Given the description of an element on the screen output the (x, y) to click on. 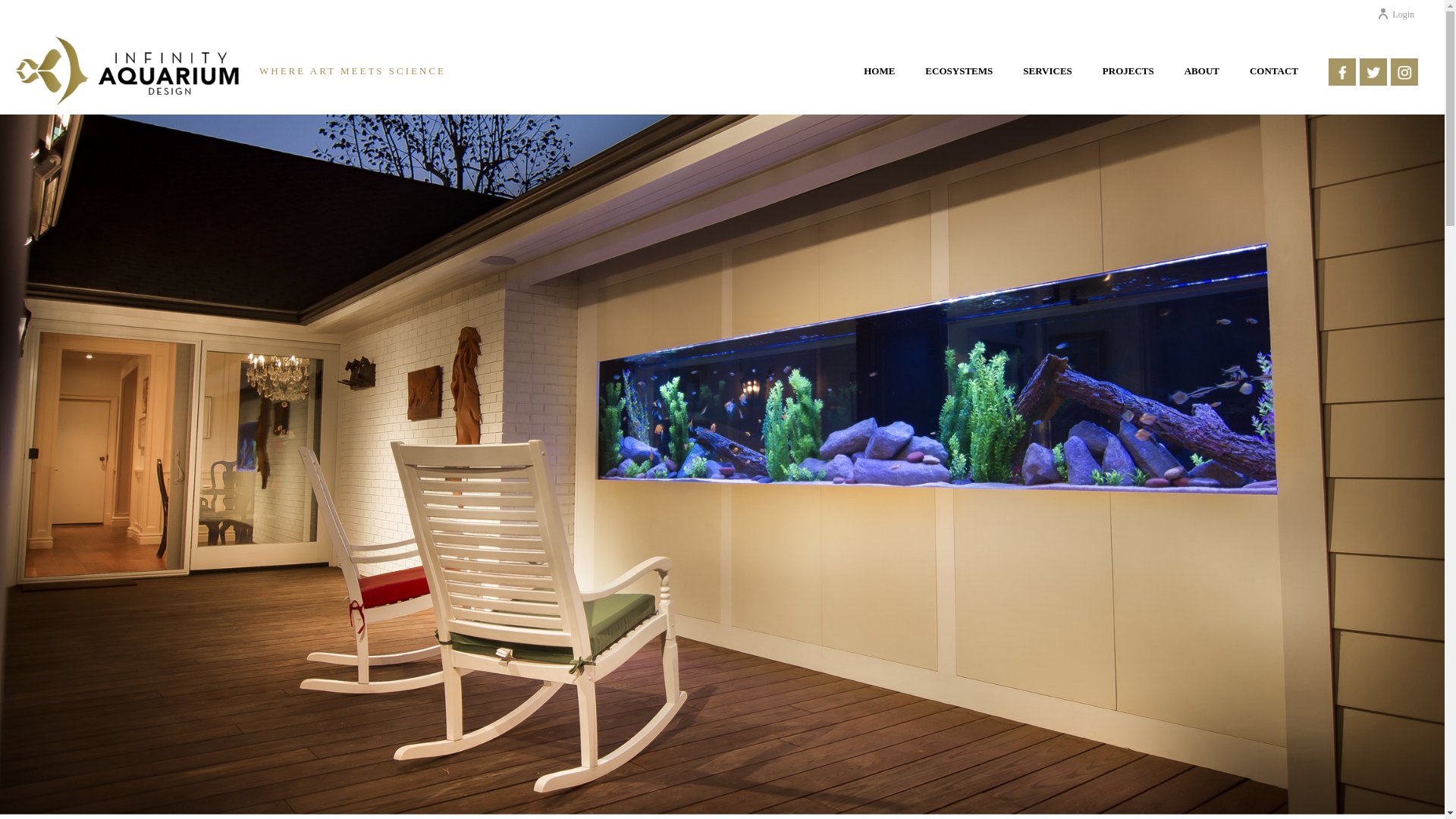
PROJECTS (1128, 77)
CONTACT (1273, 77)
HOME (879, 77)
SERVICES (1047, 77)
HOME (879, 77)
PROJECTS (1128, 77)
ABOUT (1201, 77)
ABOUT (1201, 77)
ECOSYSTEMS (958, 77)
SERVICES (1047, 77)
CONTACT (1273, 77)
Where Art Meets Science (127, 71)
Login (1395, 14)
ECOSYSTEMS (958, 77)
